Given the description of an element on the screen output the (x, y) to click on. 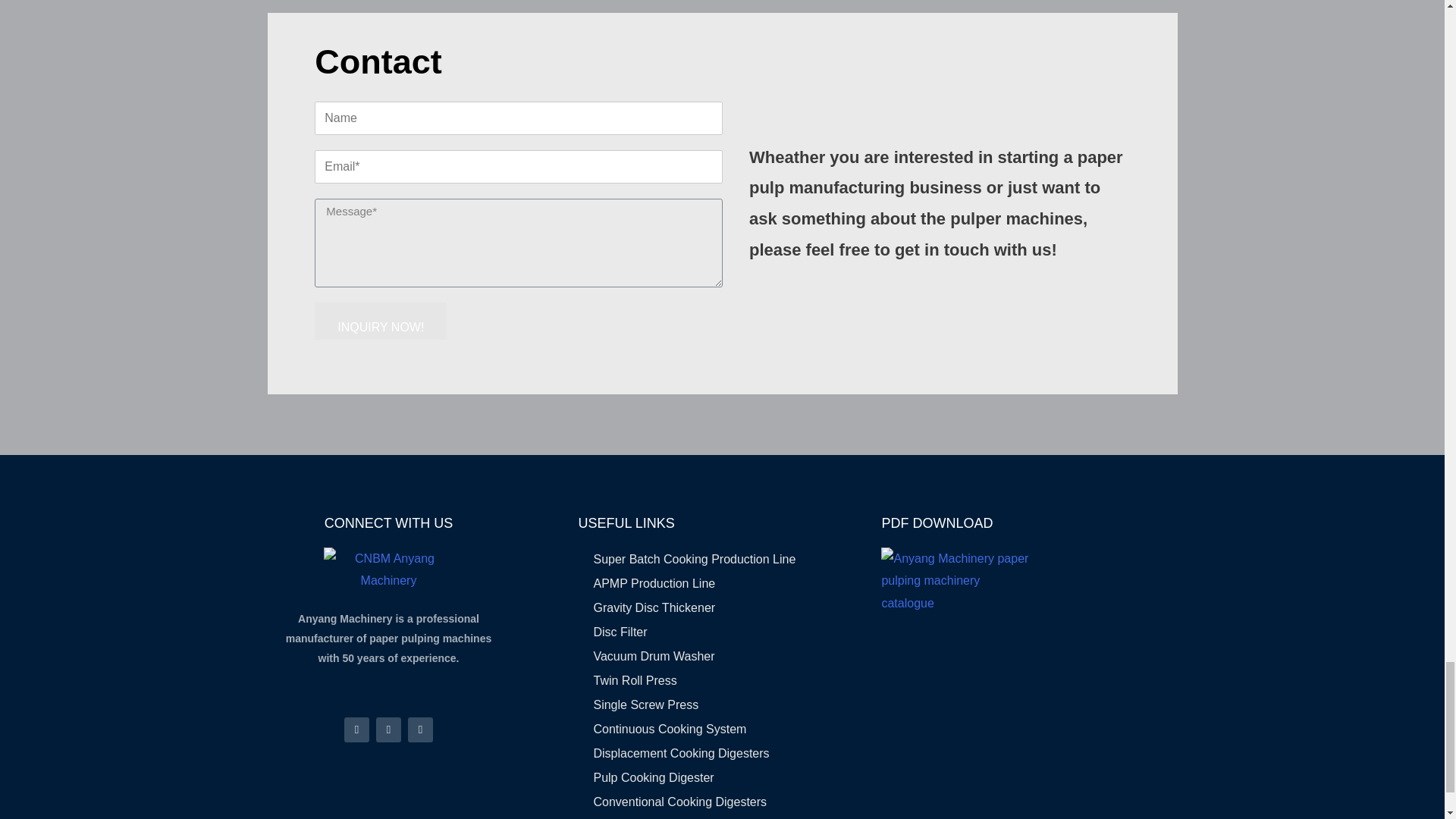
Inquiry Now! (380, 320)
